Given the description of an element on the screen output the (x, y) to click on. 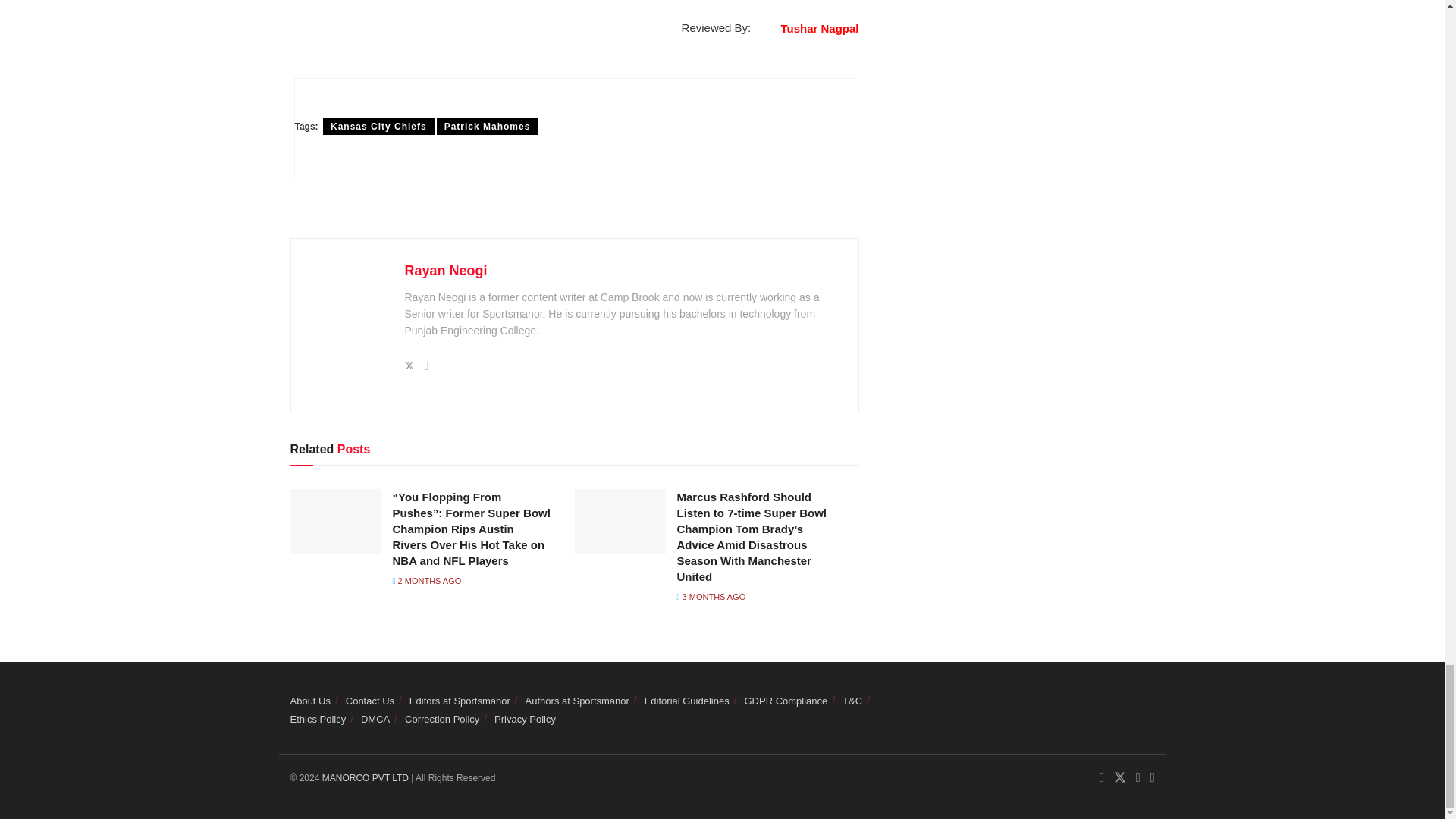
Sportsmanor (366, 777)
